Given the description of an element on the screen output the (x, y) to click on. 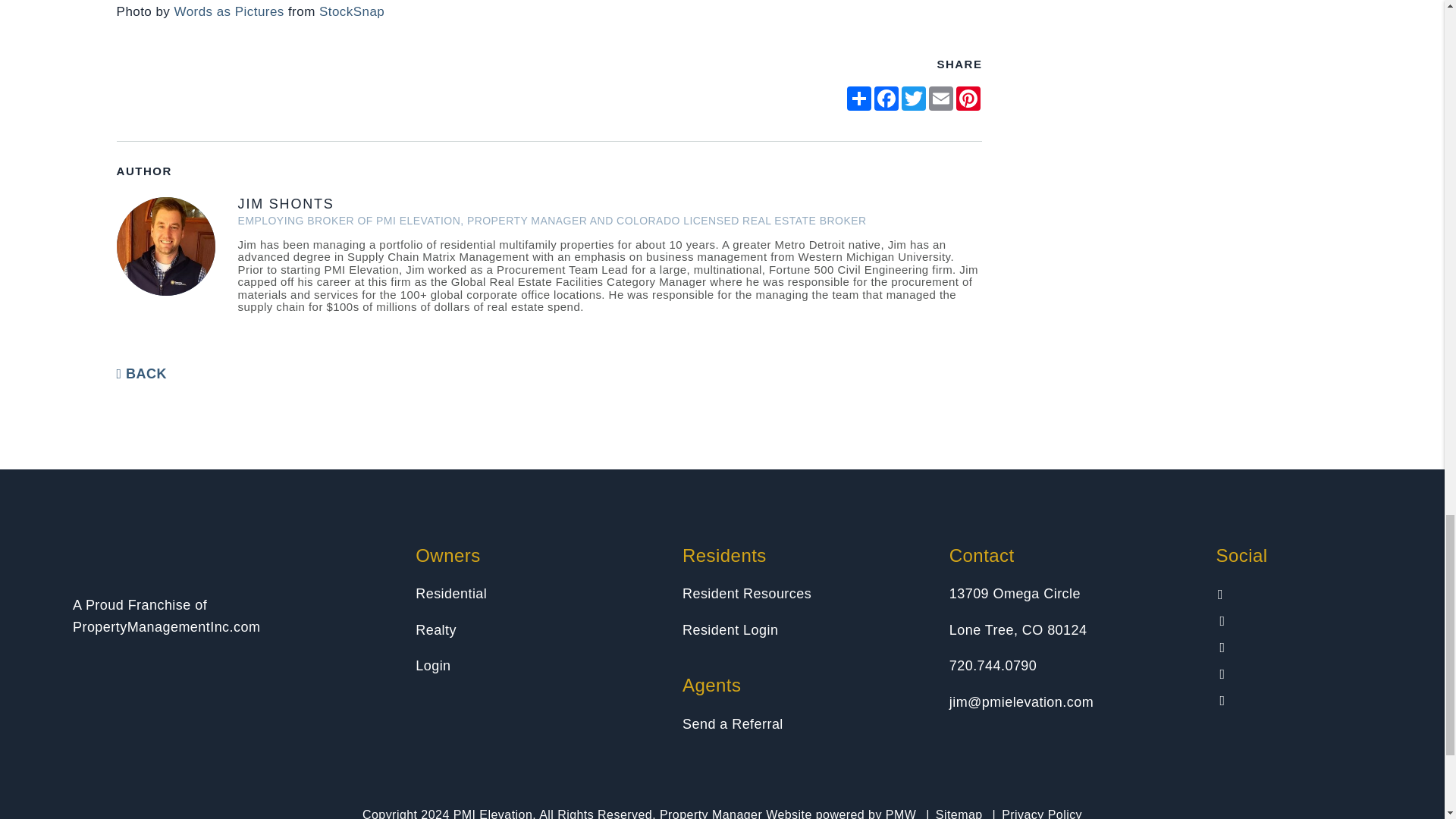
opens in new window (858, 98)
opens in new window (885, 98)
opens in new window (913, 98)
